Given the description of an element on the screen output the (x, y) to click on. 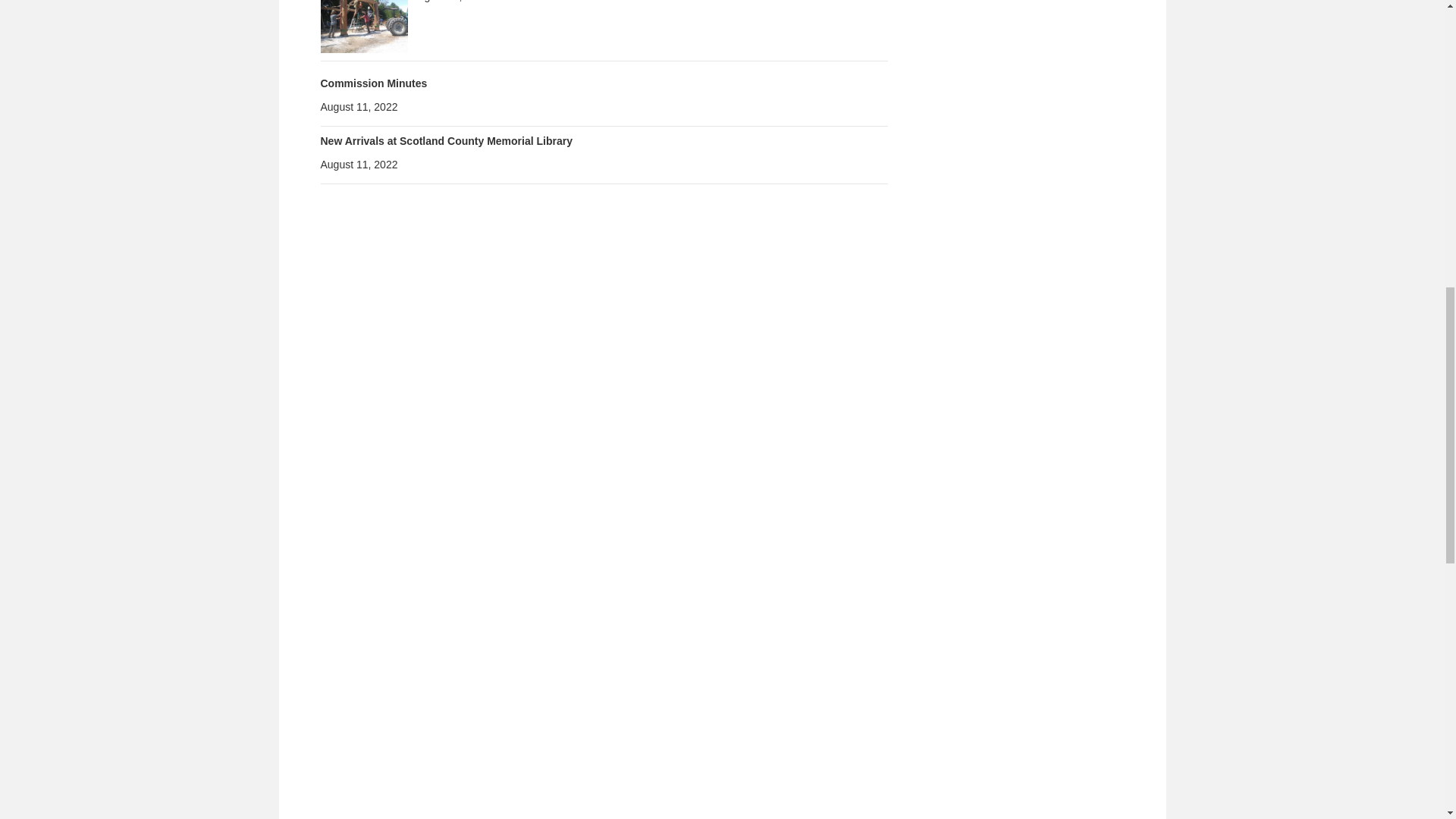
New Arrivals at Scotland County Memorial Library (446, 141)
Commission Minutes (373, 82)
Moving on to the New Normal: A Dancing Rabbit Update (363, 9)
